Given the description of an element on the screen output the (x, y) to click on. 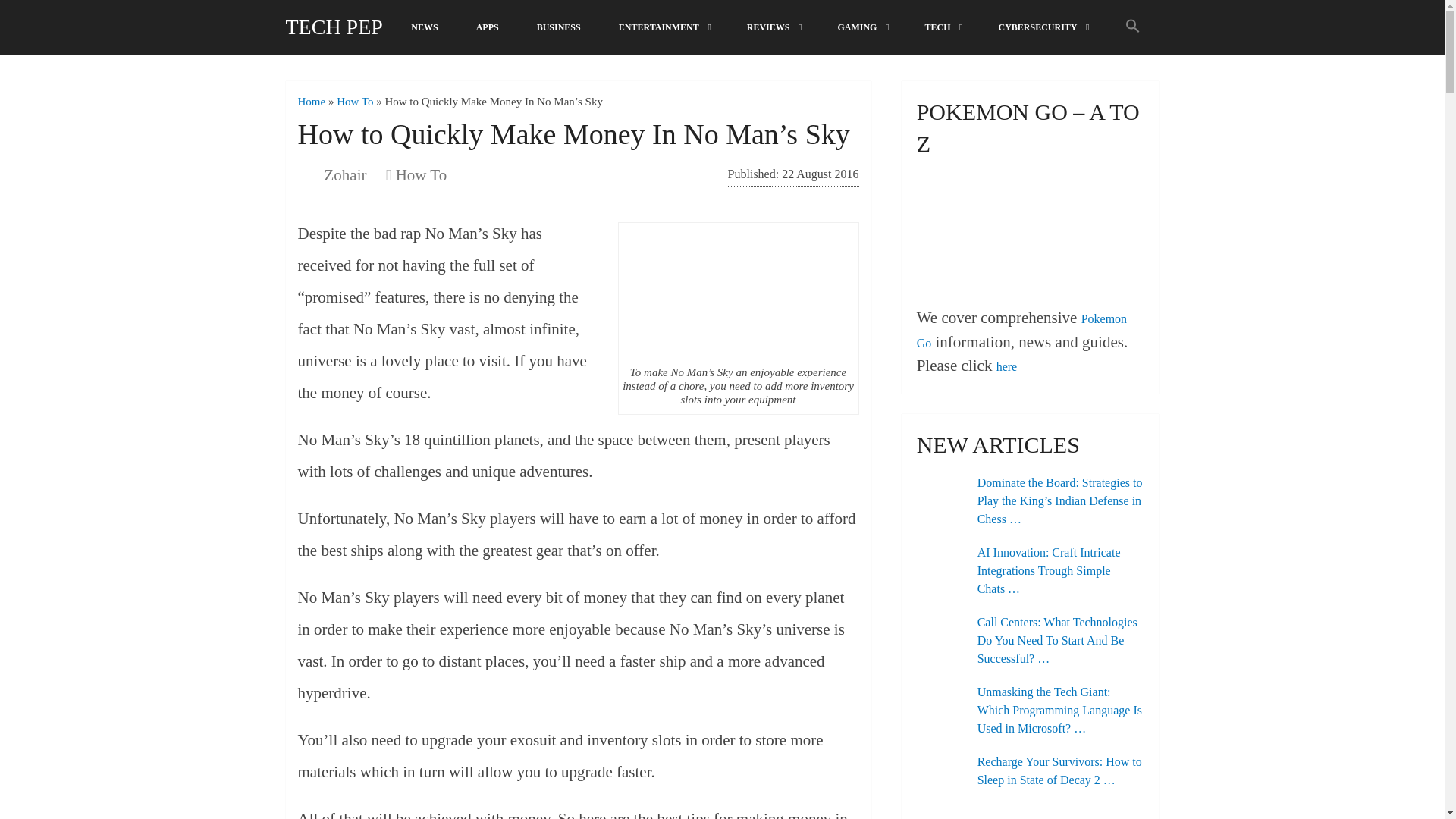
ENTERTAINMENT (663, 27)
View all posts in How To (421, 175)
Home (310, 101)
How To (421, 175)
NEWS (424, 27)
CYBERSECURITY (1041, 27)
GAMING (861, 27)
BUSINESS (558, 27)
TECH (941, 27)
